Given the description of an element on the screen output the (x, y) to click on. 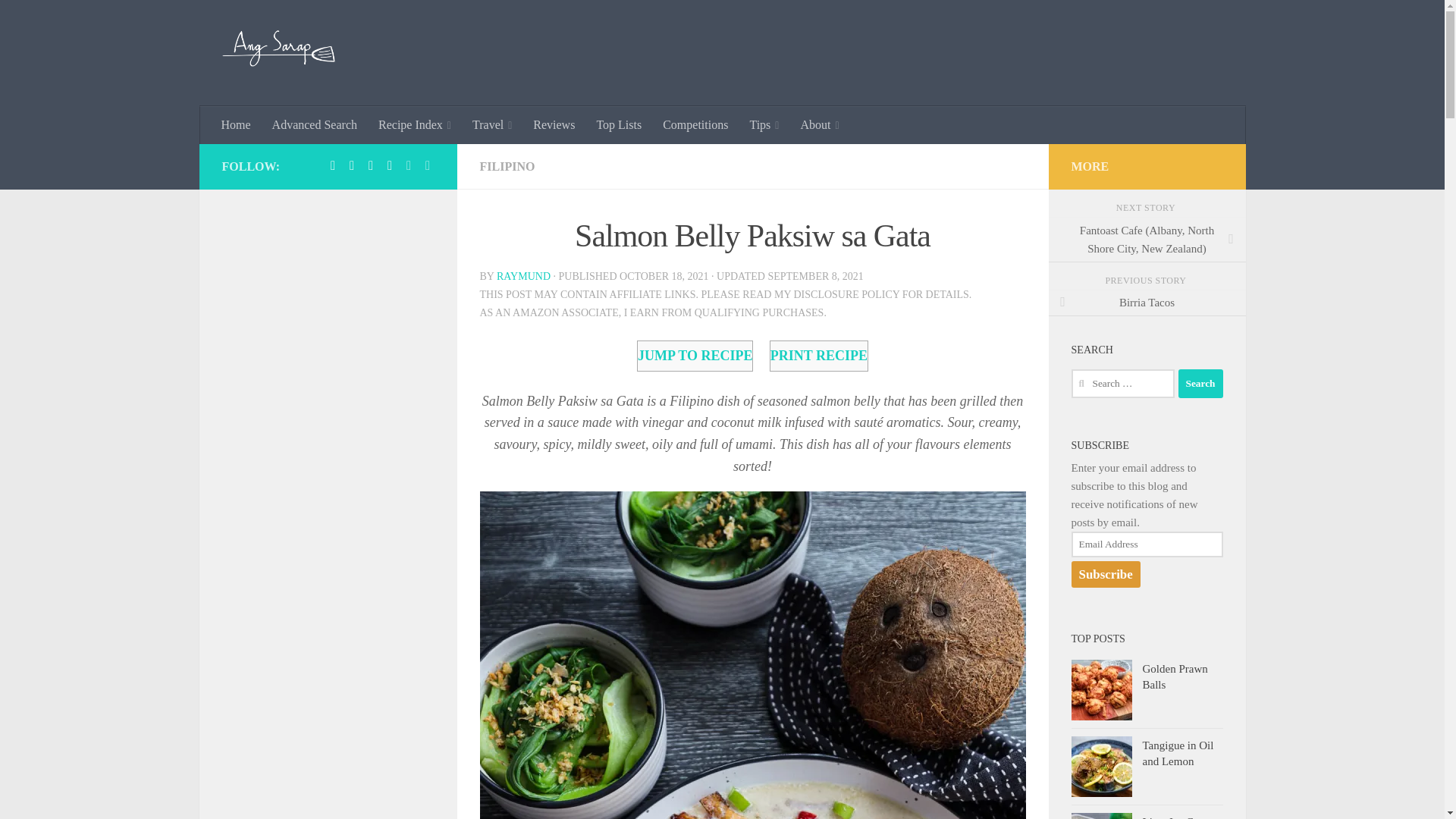
Tumblr (370, 164)
Posts by Raymund (523, 276)
Recipe Index (414, 125)
Facebook (332, 164)
Search (1200, 383)
Follow us on Youtube (427, 164)
Pinterest (352, 164)
Instagram (390, 164)
Follow us on Twitter (407, 164)
JUMP TO RECIPE (694, 355)
